Given the description of an element on the screen output the (x, y) to click on. 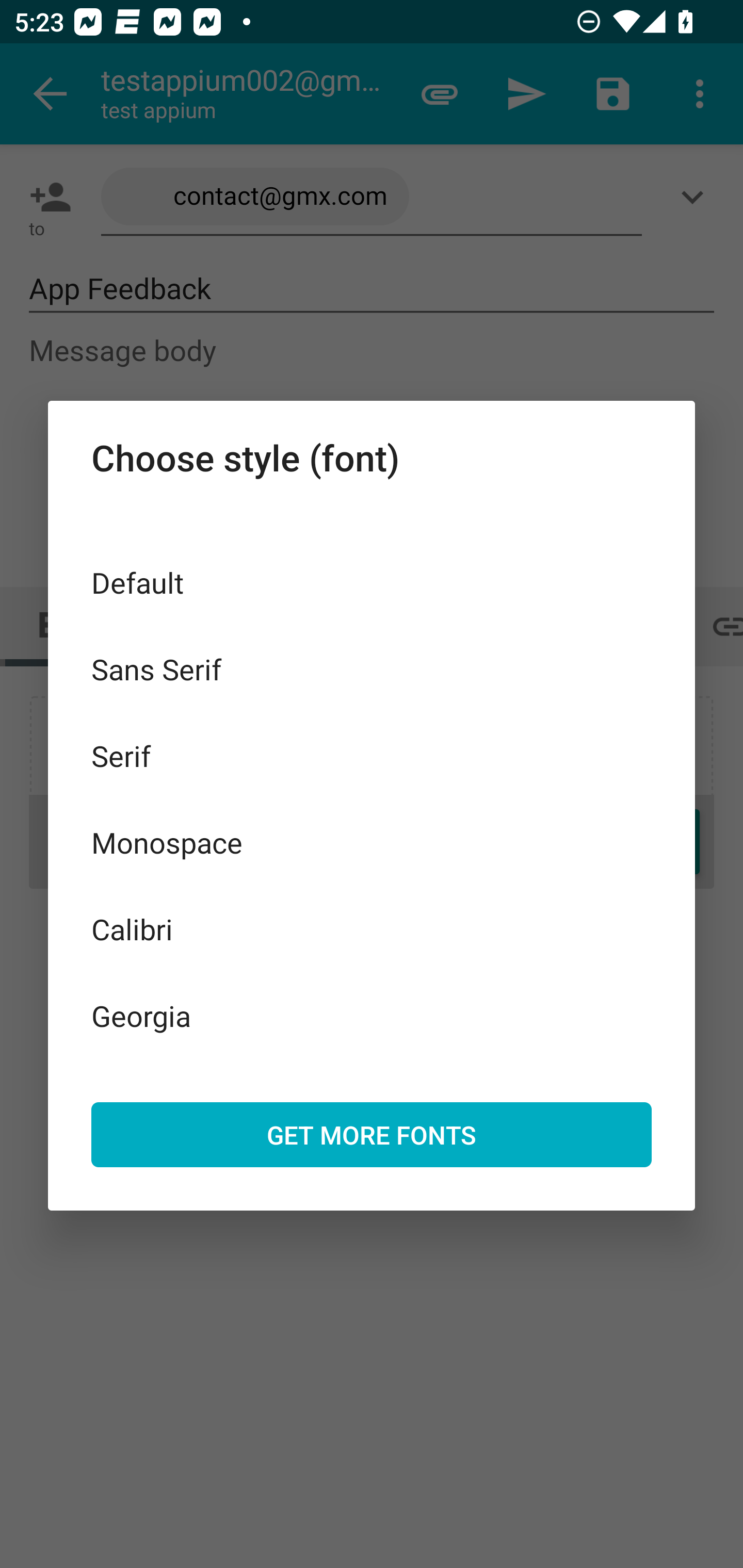
Default (371, 582)
Sans Serif (371, 668)
Serif (371, 755)
Monospace (371, 842)
Calibri (371, 928)
Georgia (371, 1015)
GET MORE FONTS (371, 1134)
